Given the description of an element on the screen output the (x, y) to click on. 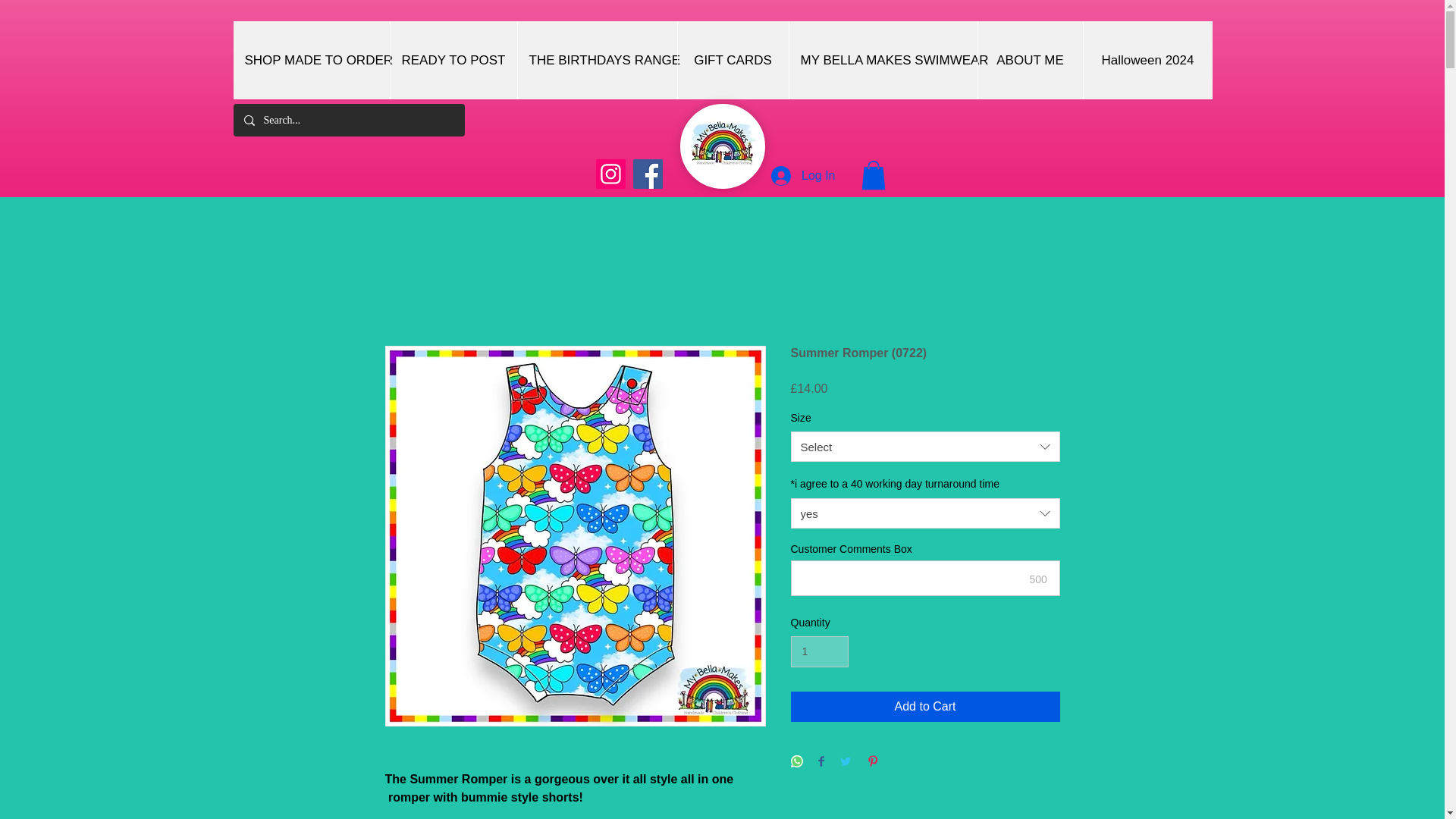
Select (924, 446)
GIFT CARDS (732, 60)
ABOUT ME (1028, 60)
THE BIRTHDAYS RANGE (596, 60)
SHOP MADE TO ORDER (311, 60)
1 (818, 651)
yes (924, 512)
Halloween 2024 (1147, 60)
MY BELLA MAKES SWIMWEAR (882, 60)
Add to Cart (924, 706)
